Given the description of an element on the screen output the (x, y) to click on. 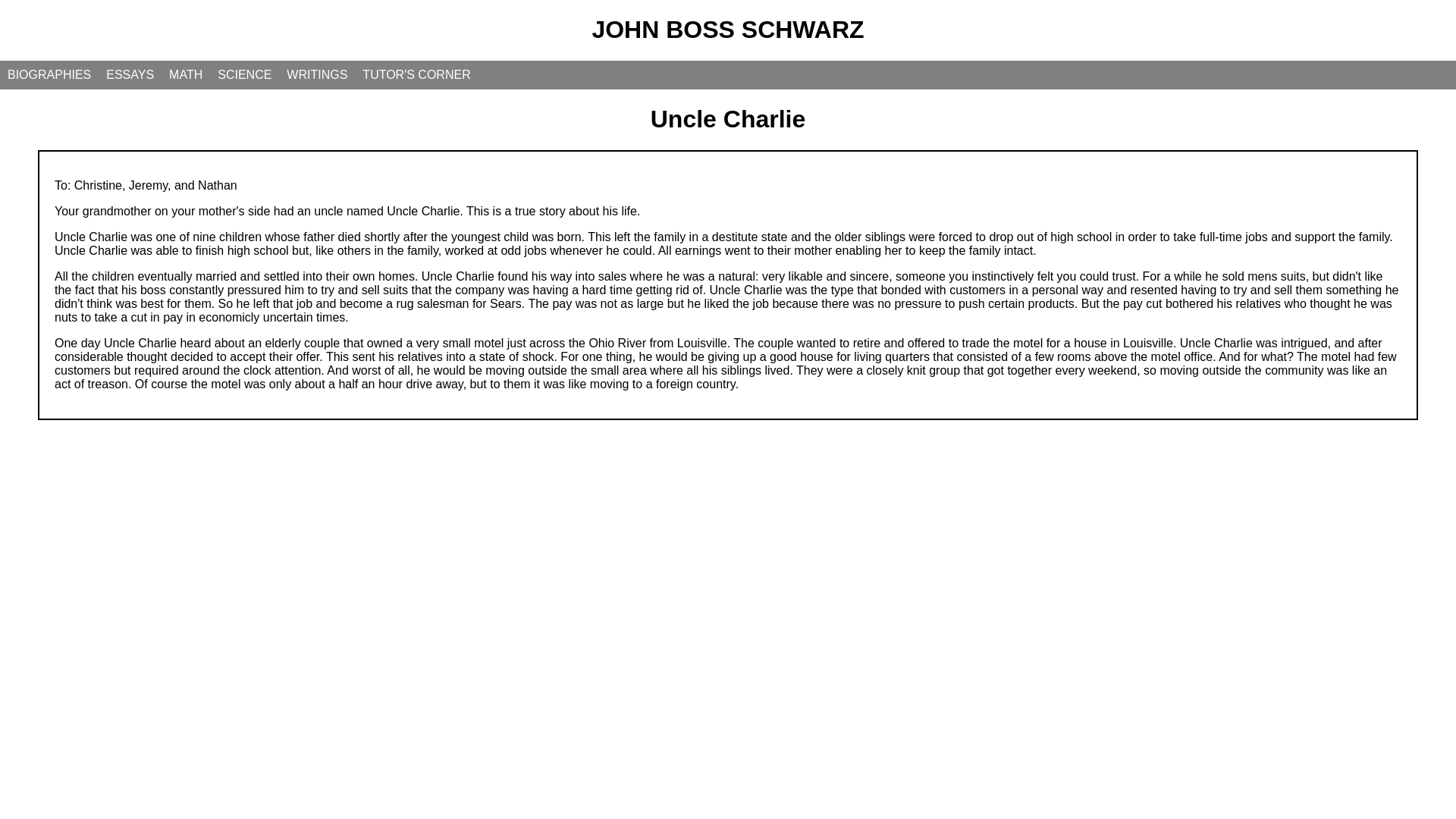
ESSAYS (130, 74)
TUTOR'S CORNER (416, 74)
JOHN BOSS SCHWARZ (727, 29)
SCIENCE (244, 74)
MATH (185, 74)
WRITINGS (317, 74)
BIOGRAPHIES (49, 74)
